Given the description of an element on the screen output the (x, y) to click on. 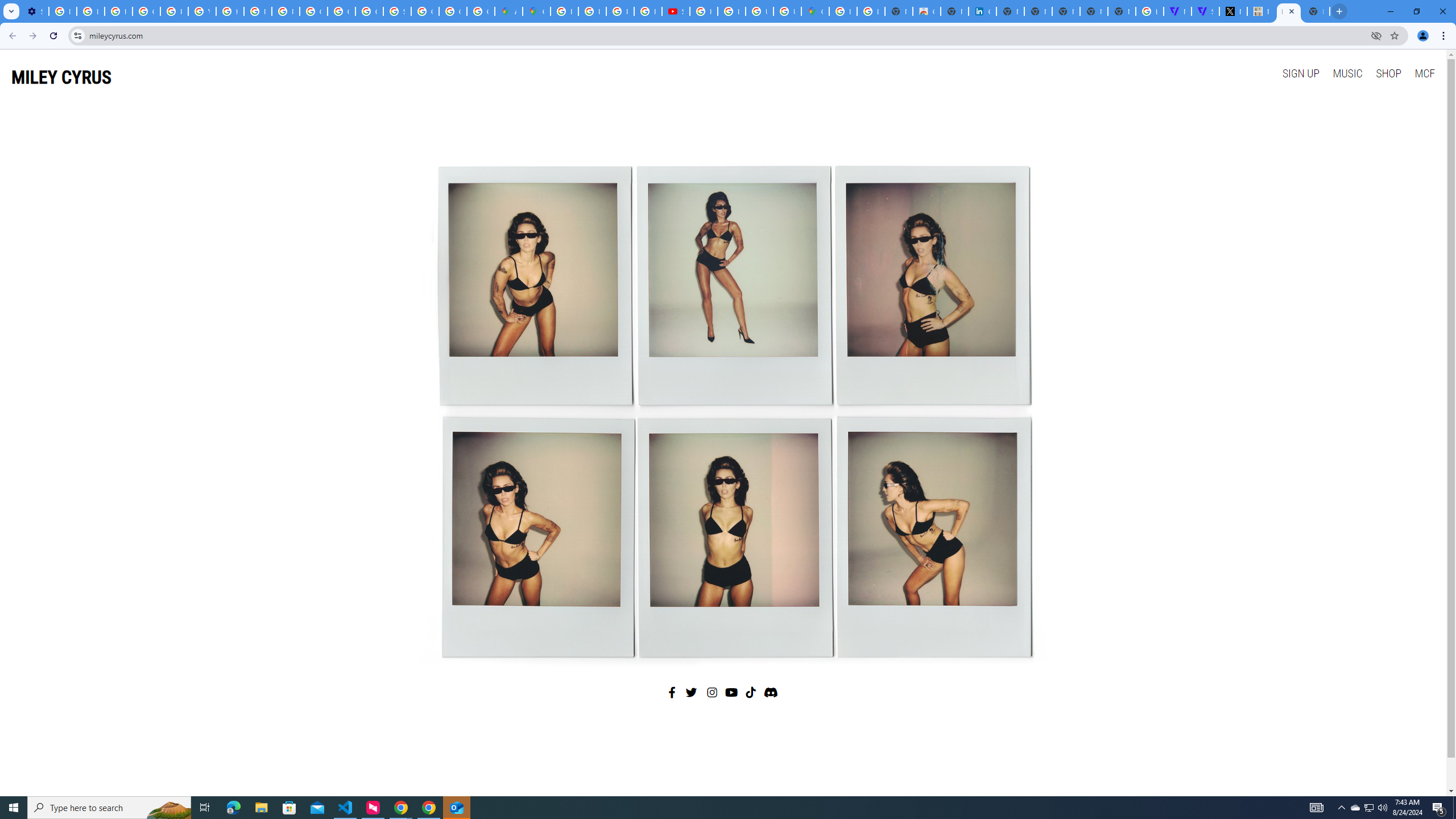
Miley Cyrus (@MileyCyrus) / X (1233, 11)
Privacy Help Center - Policies Help (257, 11)
MILEY CYRUS. (1288, 11)
Settings - Customize profile (34, 11)
How Chrome protects your passwords - Google Chrome Help (703, 11)
Google Maps (536, 11)
